Given the description of an element on the screen output the (x, y) to click on. 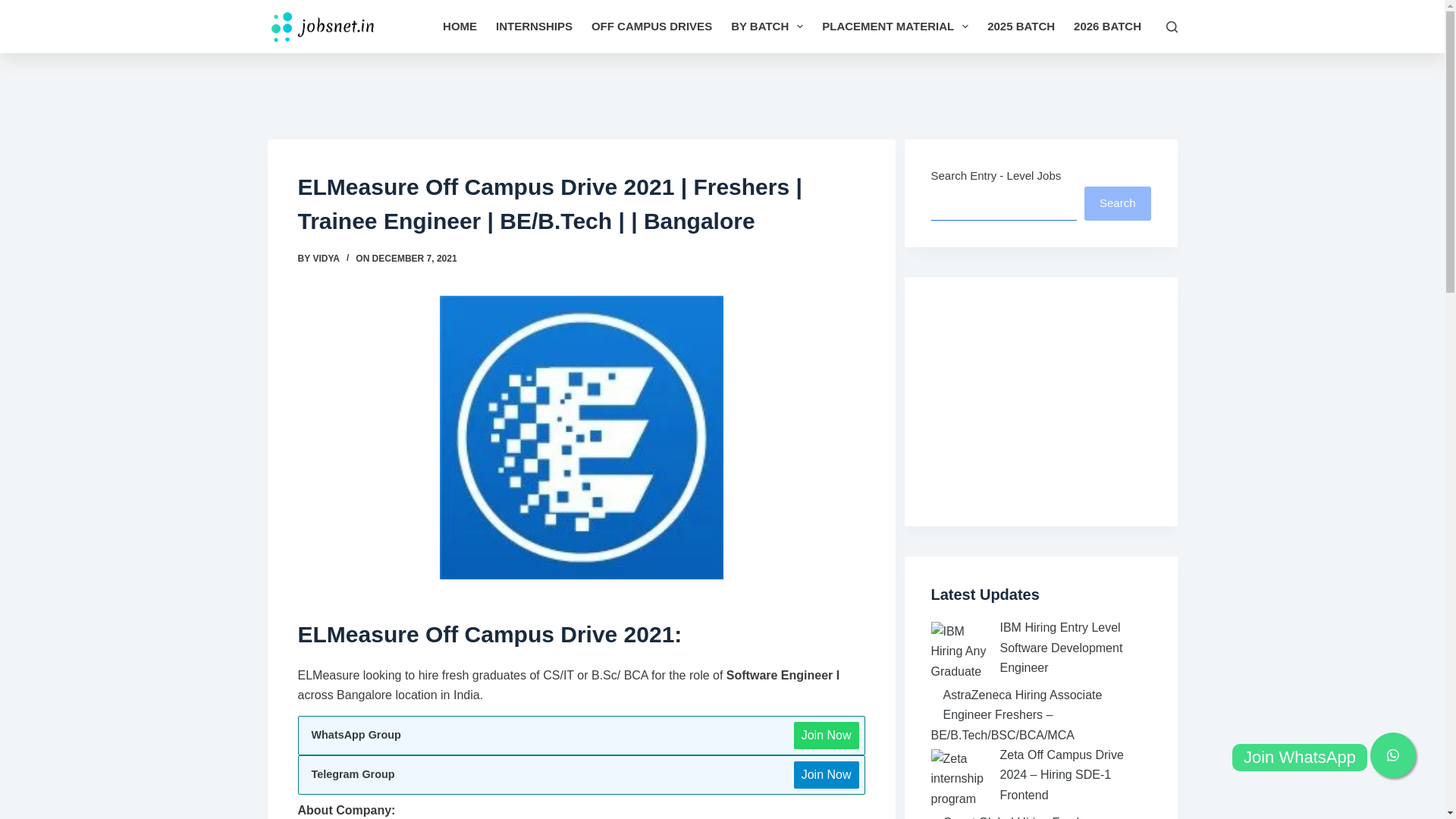
INTERNSHIPS (534, 26)
2025 BATCH (1021, 26)
HOME (459, 26)
PLACEMENT MATERIAL (895, 26)
OFF CAMPUS DRIVES (650, 26)
Skip to content (15, 7)
BY BATCH (767, 26)
Posts by Vidya (326, 258)
